Given the description of an element on the screen output the (x, y) to click on. 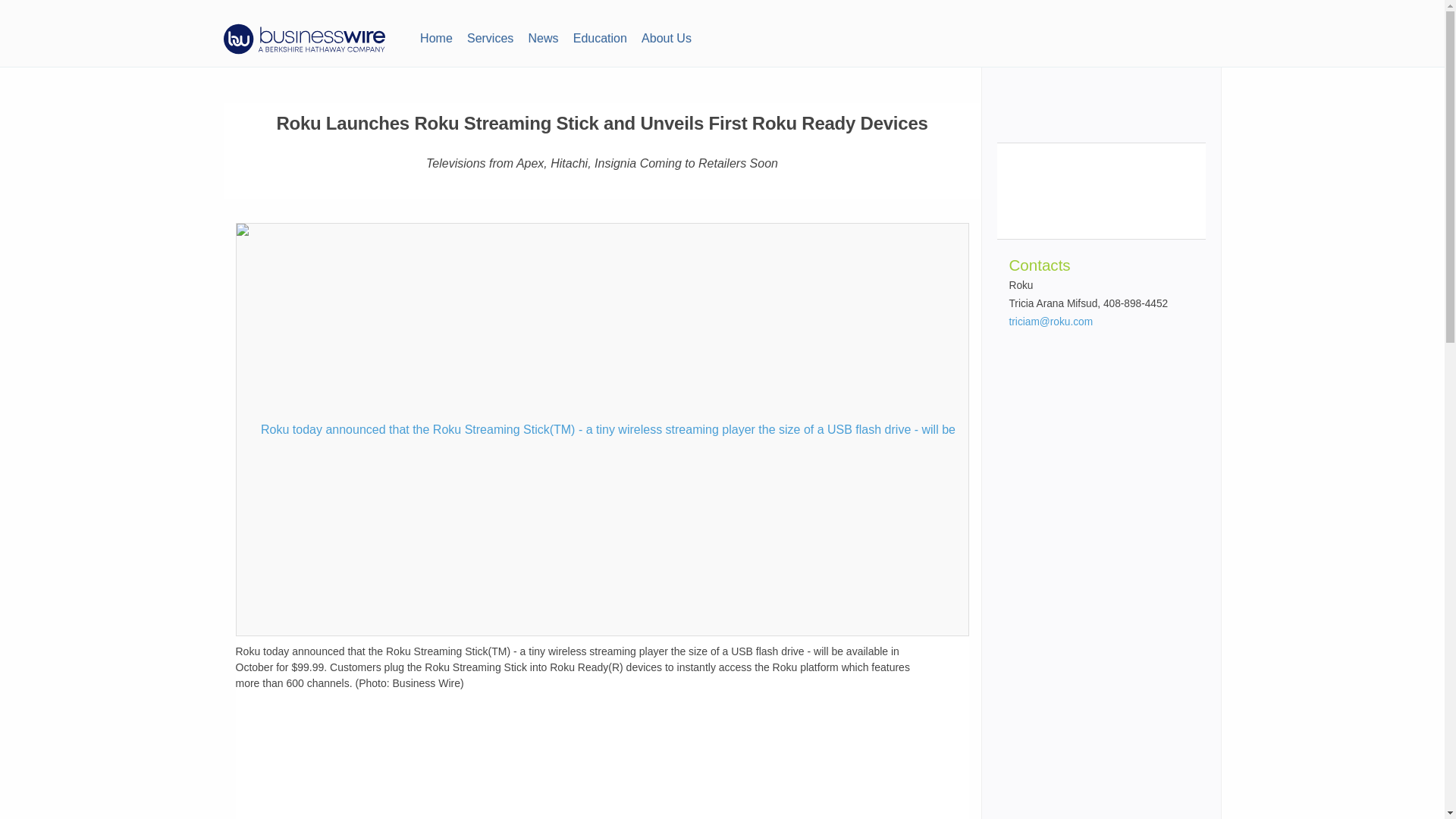
Services (490, 36)
News (543, 36)
Education (599, 36)
Home (436, 36)
